Given the description of an element on the screen output the (x, y) to click on. 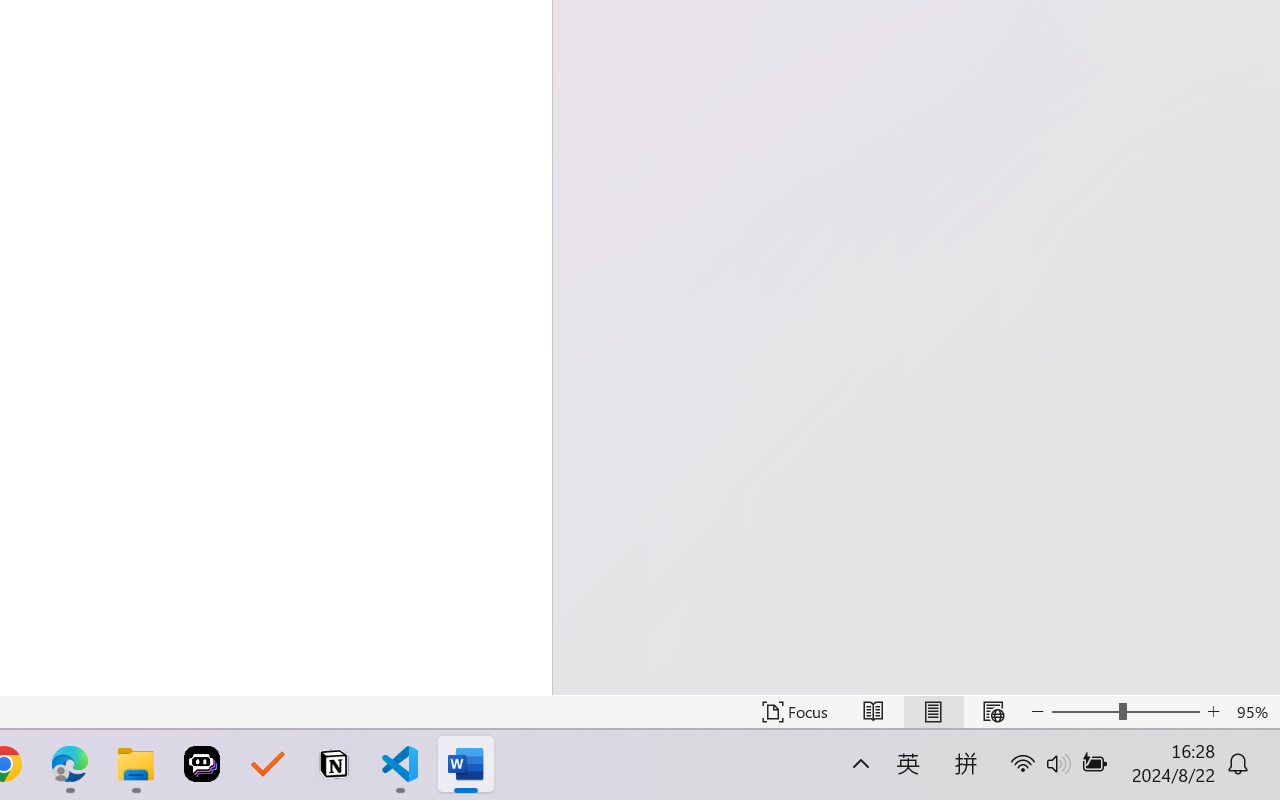
Zoom 95% (1253, 712)
